Given the description of an element on the screen output the (x, y) to click on. 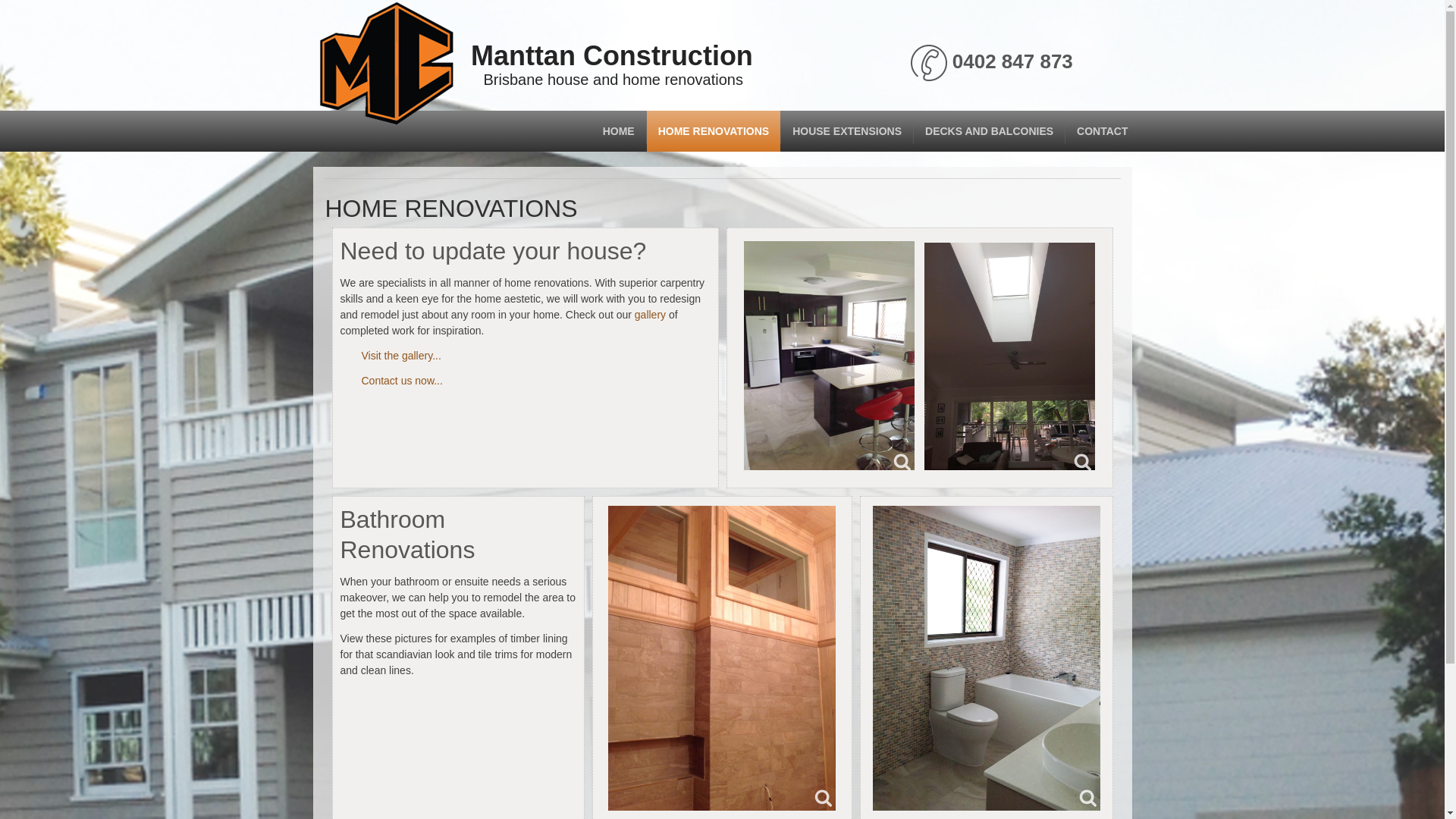
Visit the gallery... Element type: text (400, 355)
HOUSE EXTENSIONS Element type: text (847, 130)
DECKS AND BALCONIES Element type: text (988, 130)
HOME RENOVATIONS Element type: text (713, 130)
HOME Element type: text (618, 130)
CONTACT Element type: text (1102, 130)
gallery Element type: text (649, 314)
Contact us now... Element type: text (401, 380)
Manttan Construction Element type: text (611, 55)
